Given the description of an element on the screen output the (x, y) to click on. 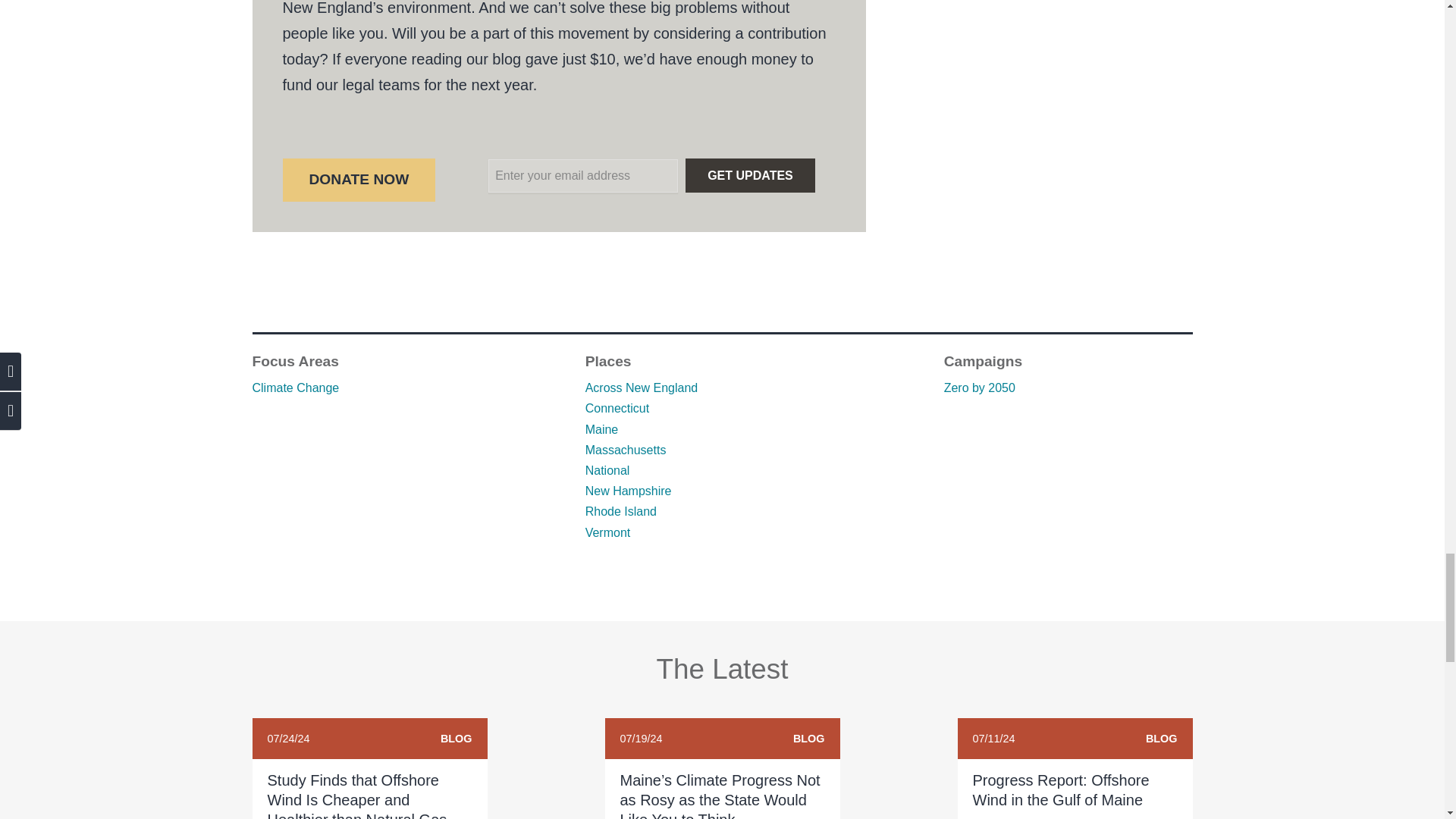
GET UPDATES (750, 175)
